Given the description of an element on the screen output the (x, y) to click on. 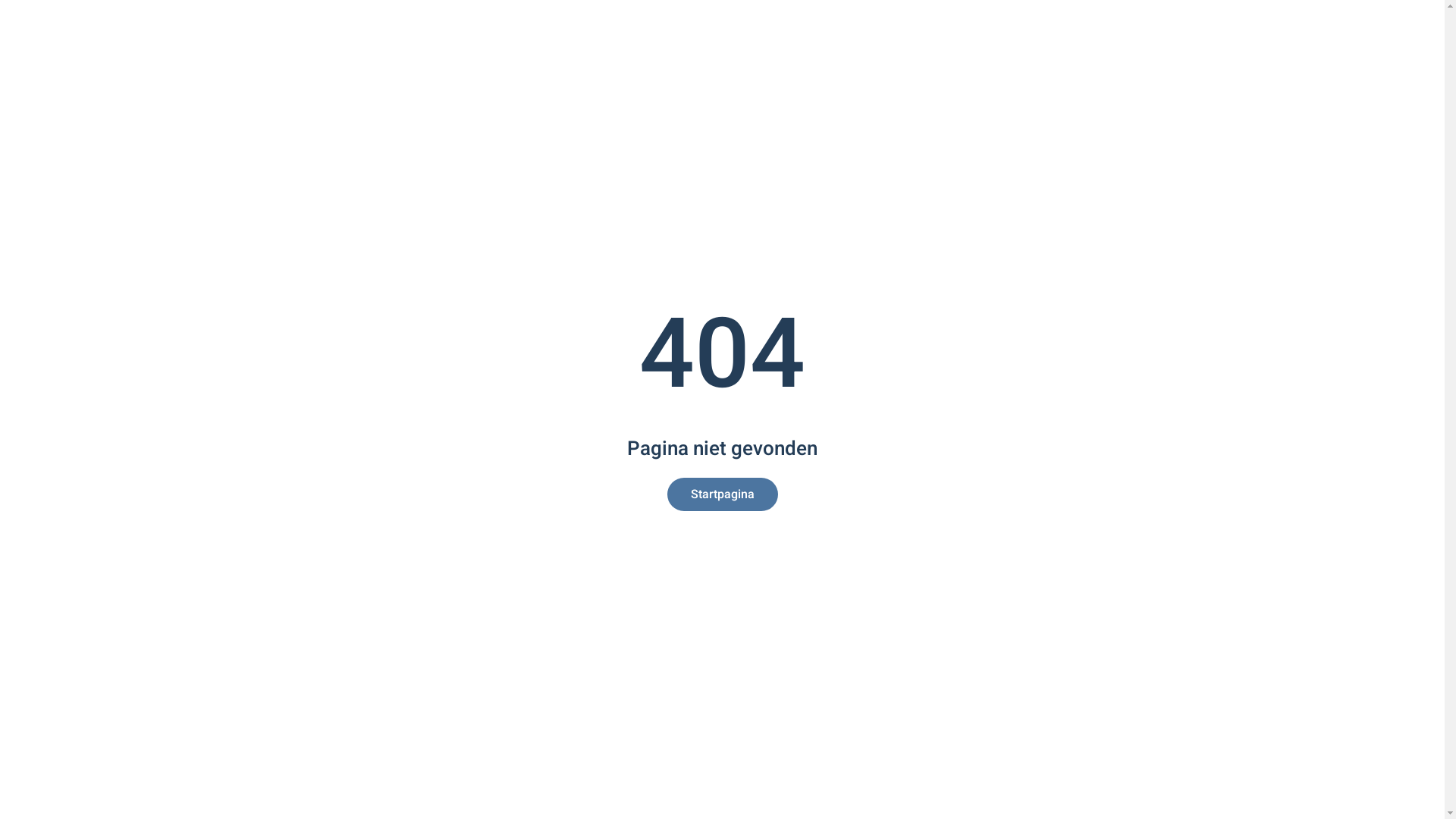
Startpagina Element type: text (722, 494)
